Given the description of an element on the screen output the (x, y) to click on. 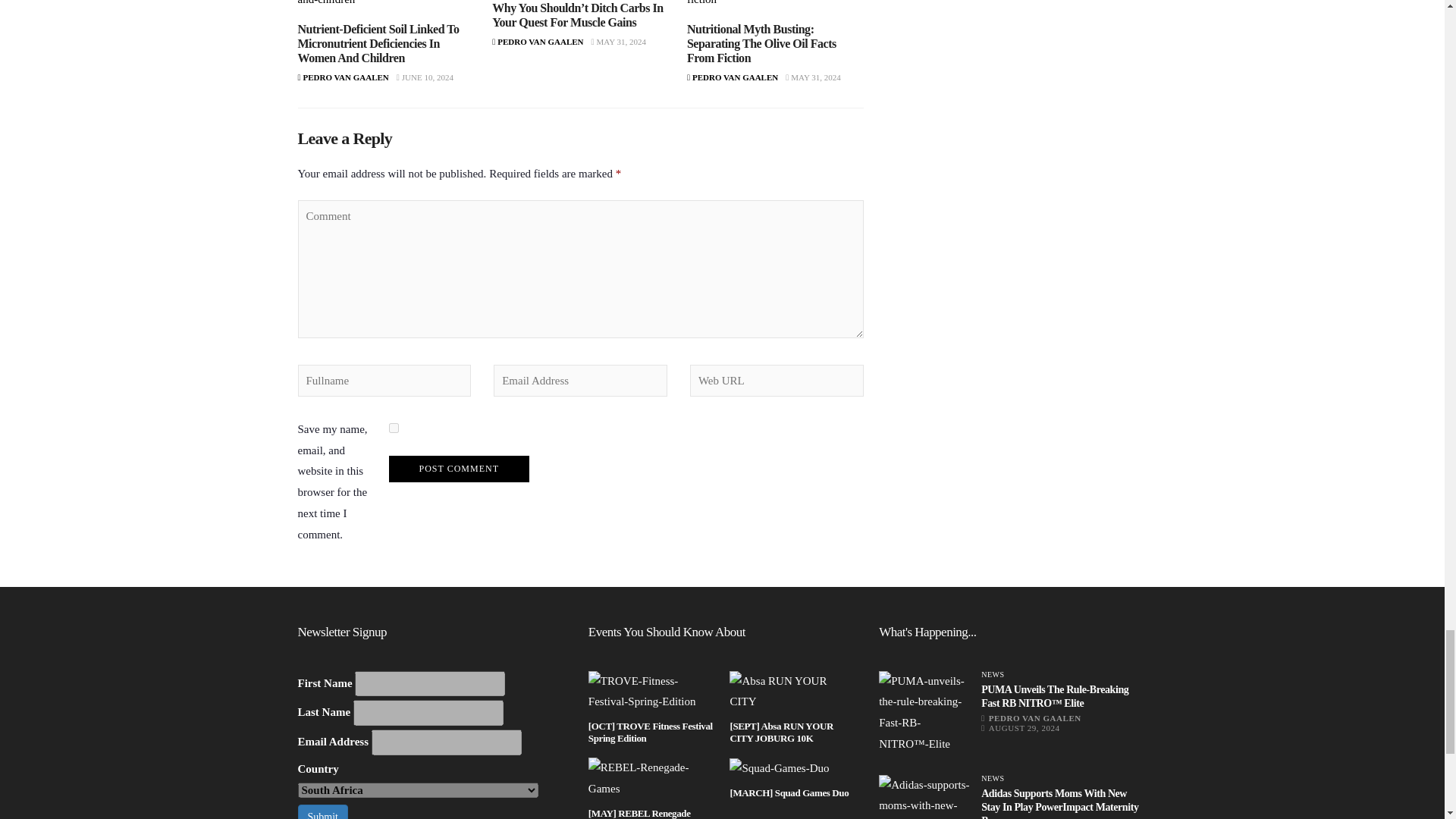
Post Comment (458, 468)
yes (392, 428)
